Given the description of an element on the screen output the (x, y) to click on. 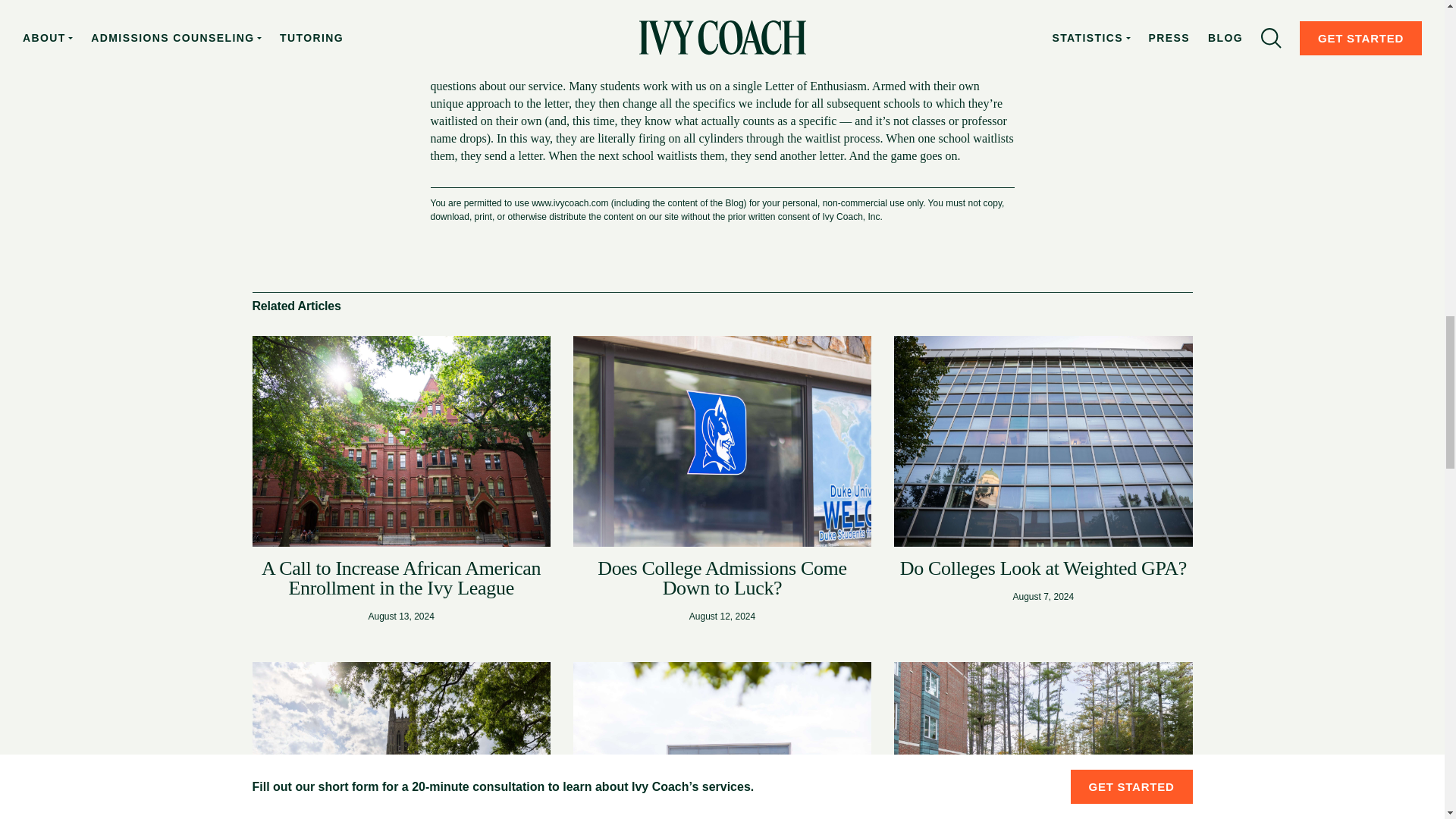
Does College Admissions Come Down to Luck? (721, 577)
Do Colleges Look at Weighted GPA? (1042, 568)
fill out our free consultation form (710, 59)
